Given the description of an element on the screen output the (x, y) to click on. 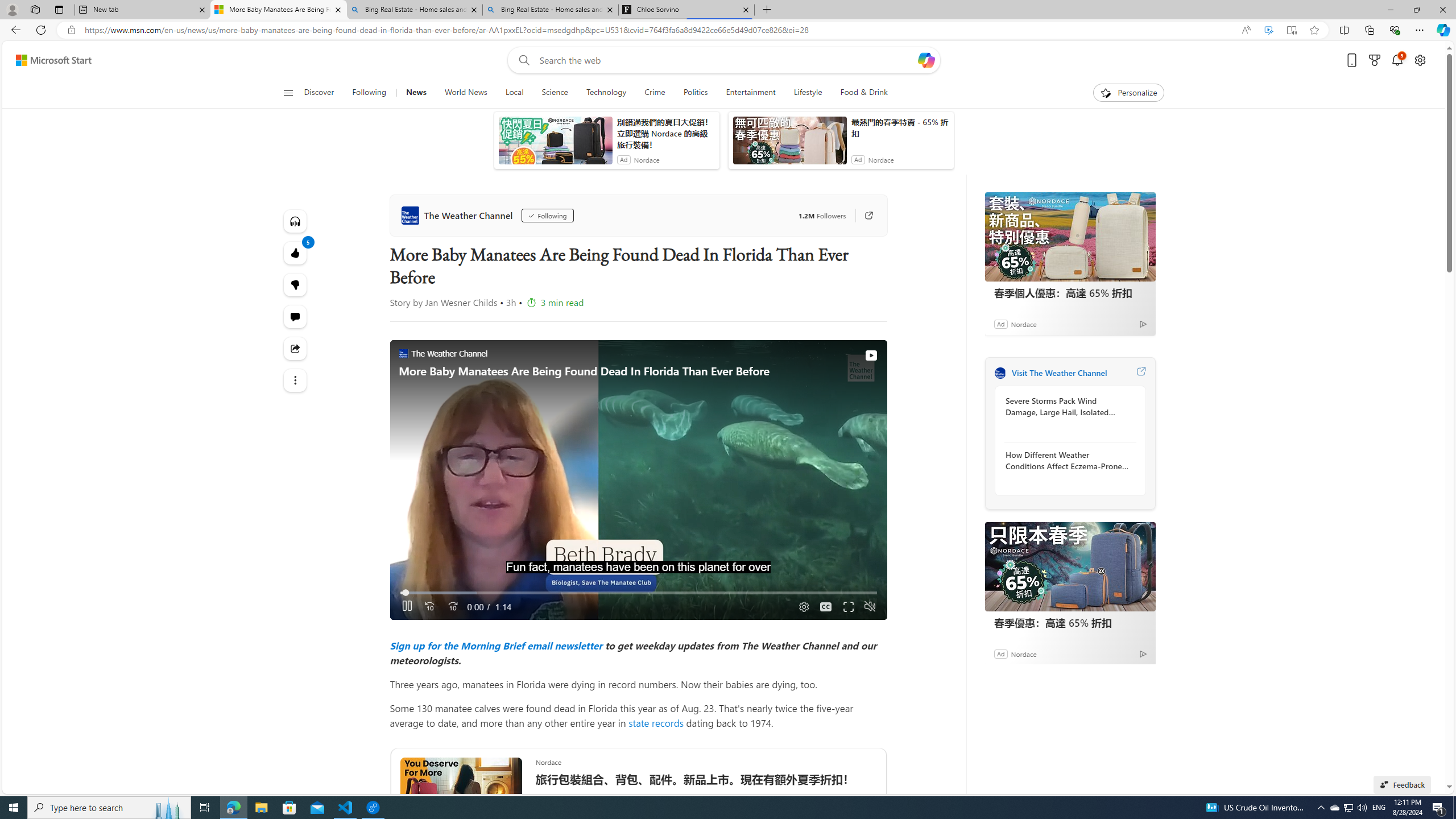
To get missing image descriptions, open the context menu. (1105, 92)
Ad (999, 653)
Microsoft rewards (1374, 60)
Following (547, 215)
Listen to this article (295, 221)
Entertainment (750, 92)
Sign up for the Morning Brief email newsletter (496, 644)
Ad Choice (1142, 653)
